Given the description of an element on the screen output the (x, y) to click on. 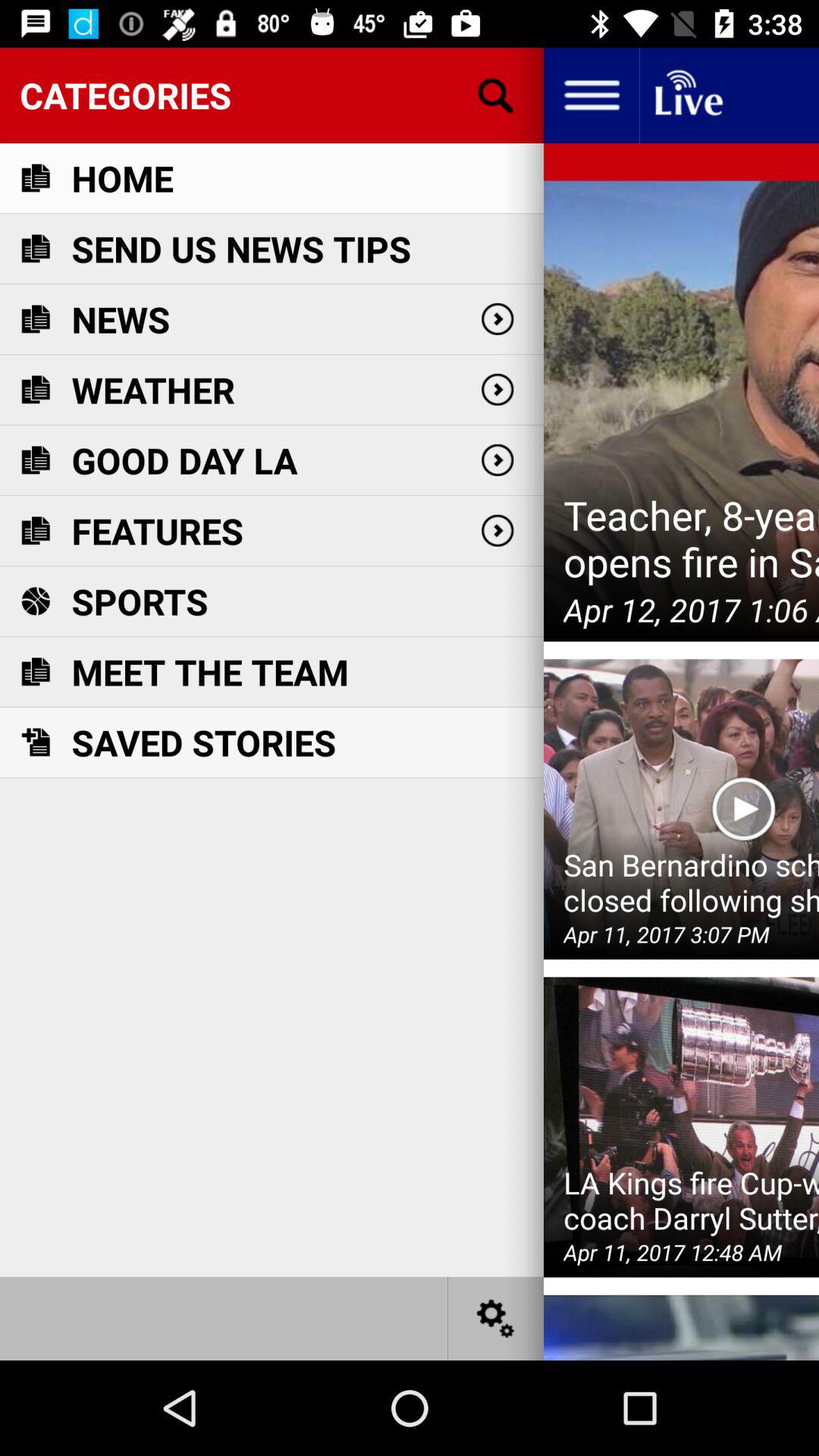
tap home item (122, 178)
